Given the description of an element on the screen output the (x, y) to click on. 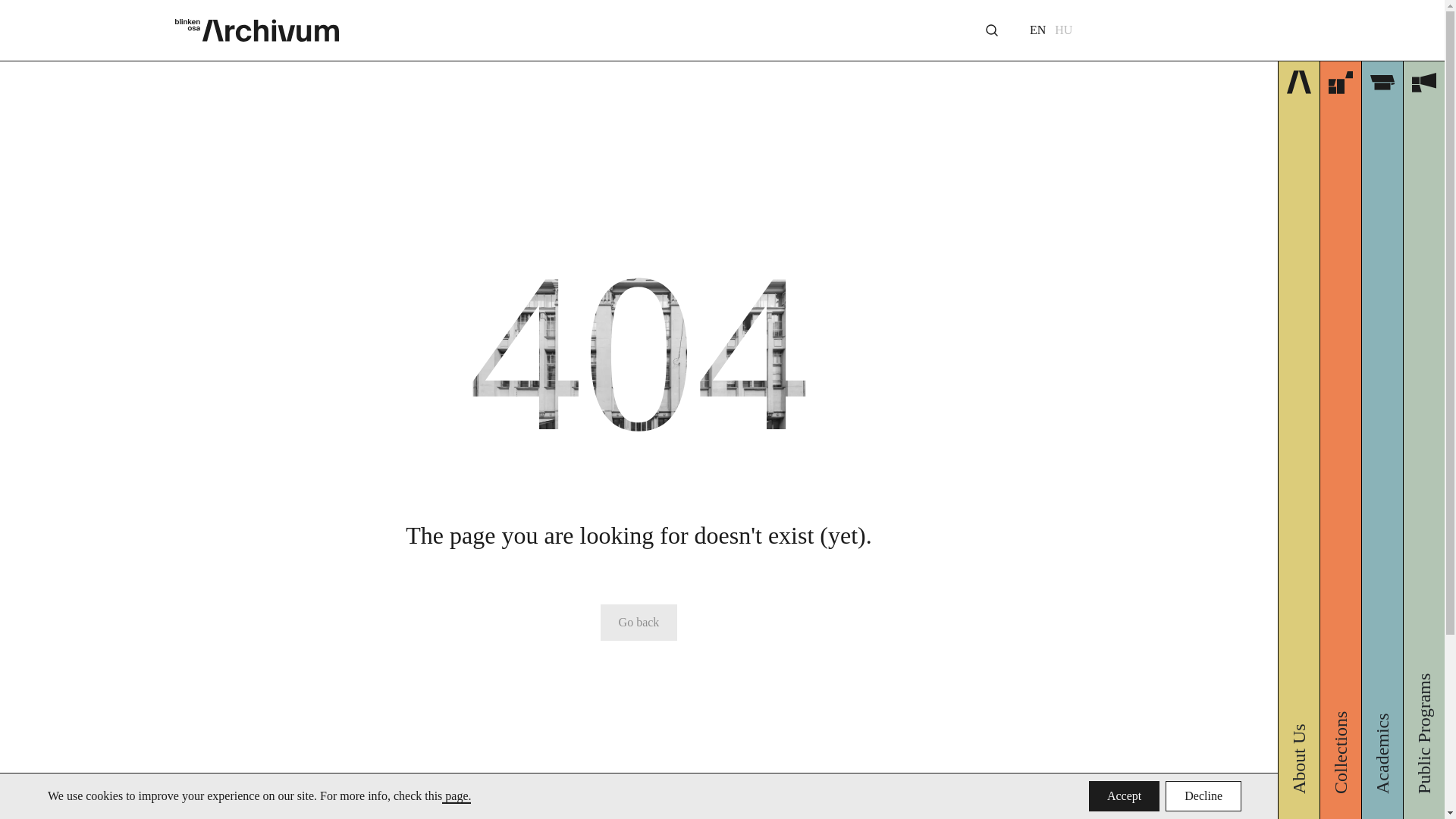
Accept (1123, 796)
Decline (1203, 796)
Go back (638, 622)
page (456, 795)
